Given the description of an element on the screen output the (x, y) to click on. 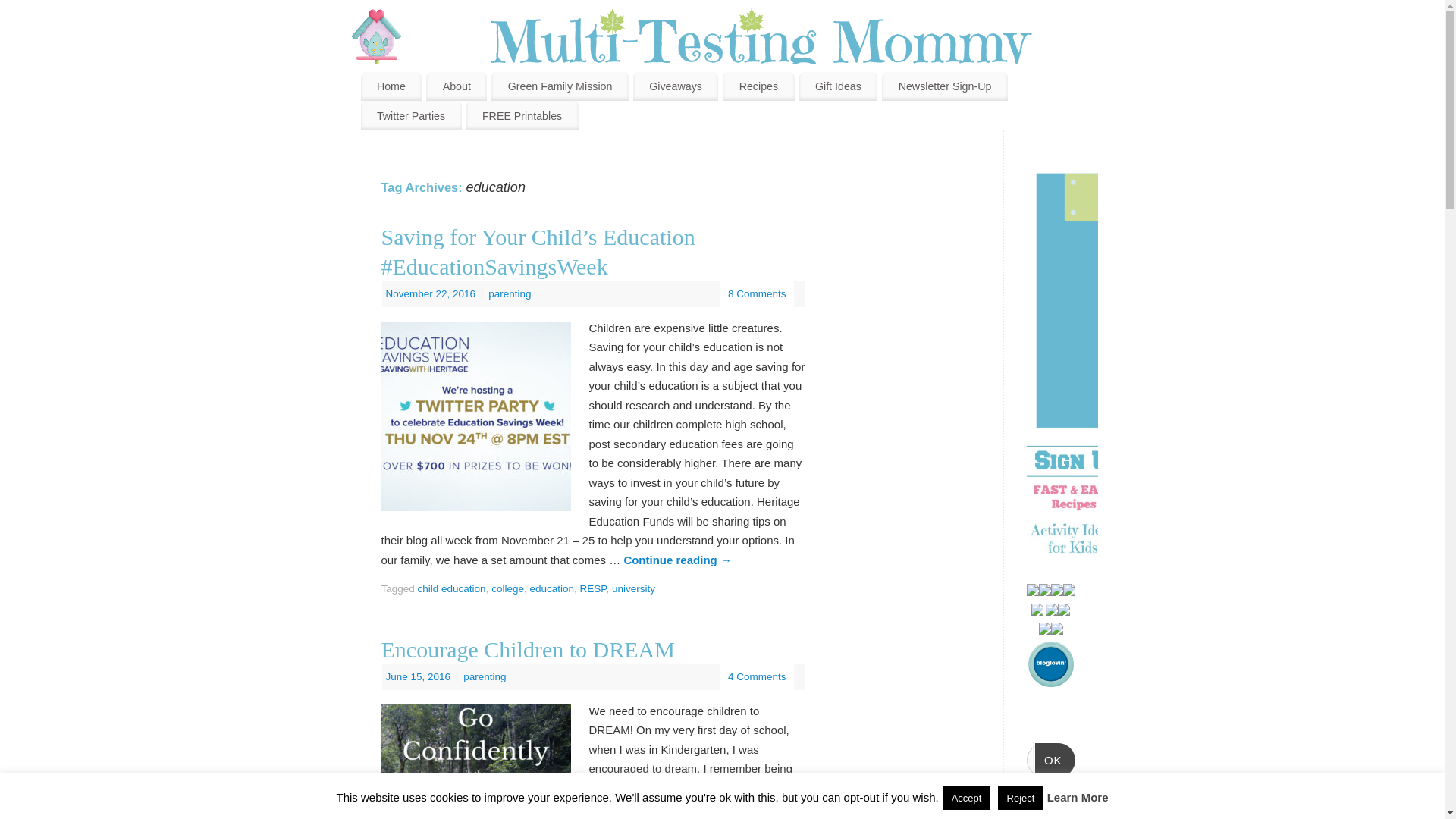
education (551, 588)
parenting (509, 293)
Recipes (757, 86)
Giveaways (675, 86)
8 Comments (757, 293)
Newsletter Sign-Up (944, 86)
Recipes (757, 86)
FREE Printables (521, 114)
university (633, 588)
About (456, 86)
2:43 pm (418, 676)
Gift Ideas (838, 86)
Home (391, 86)
Encourage Children to DREAM (527, 649)
Green Family Mission (560, 86)
